Given the description of an element on the screen output the (x, y) to click on. 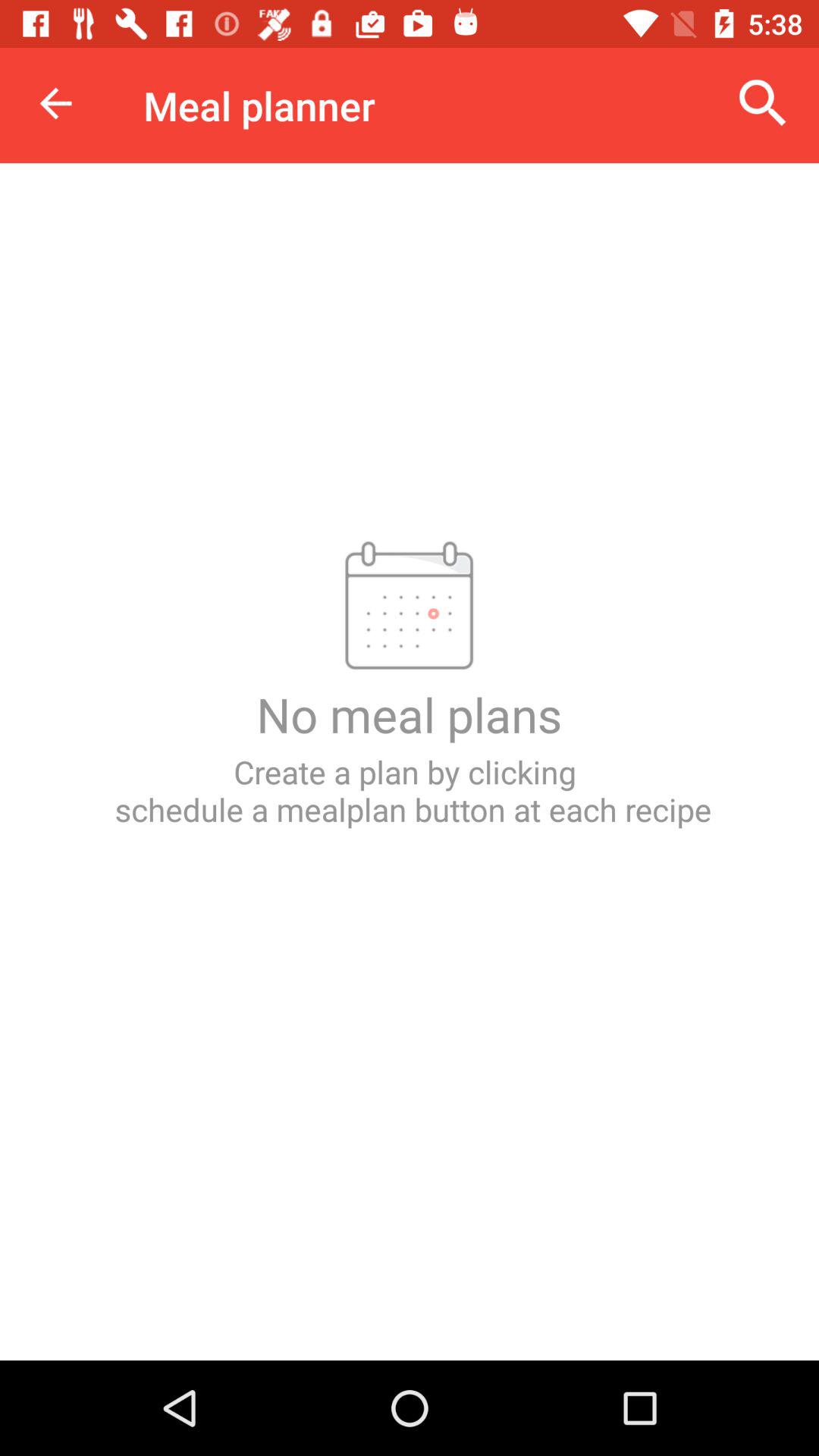
turn on icon next to meal planner (55, 103)
